Given the description of an element on the screen output the (x, y) to click on. 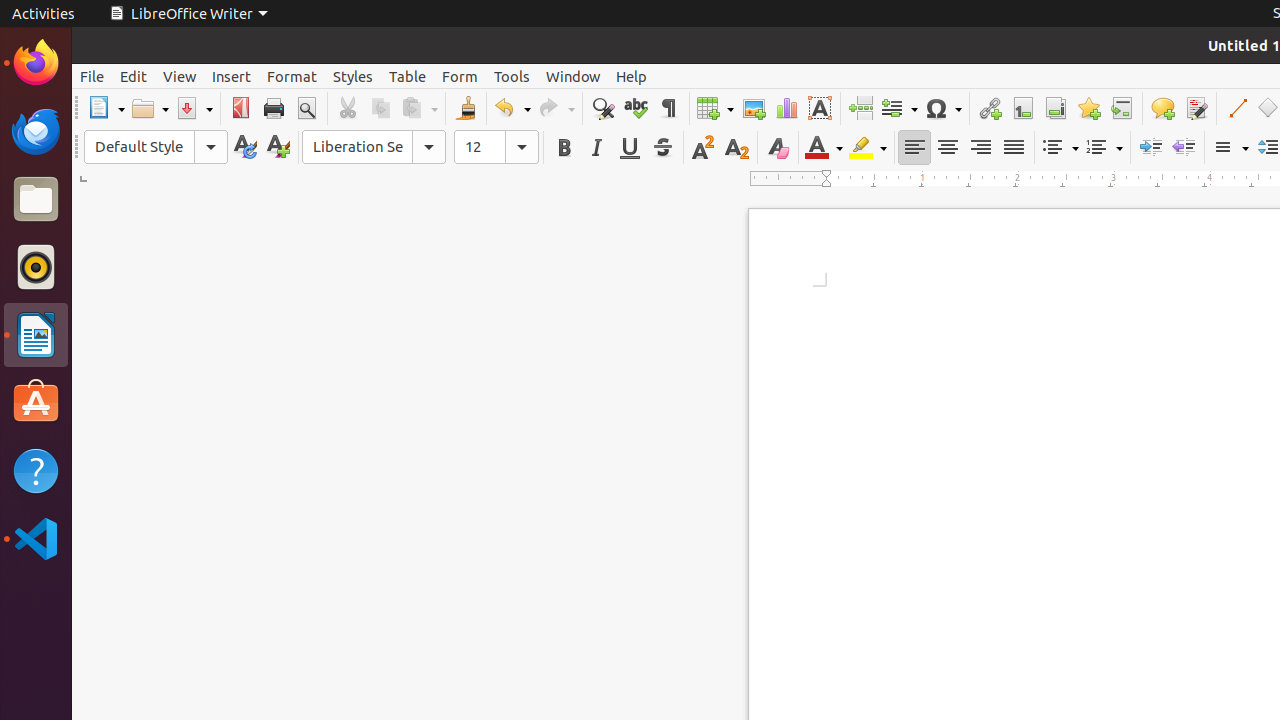
Field Element type: push-button (899, 108)
Thunderbird Mail Element type: push-button (36, 131)
Undo Element type: push-button (512, 108)
Update Element type: push-button (244, 147)
Cut Element type: push-button (347, 108)
